Given the description of an element on the screen output the (x, y) to click on. 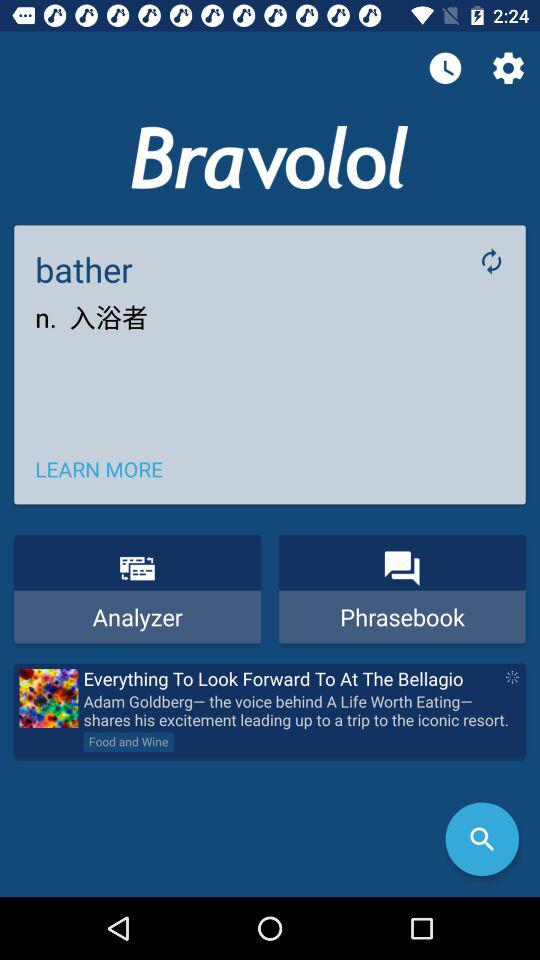
click on icon above analyzer (136, 569)
move to the icon above phrasebook (401, 569)
click on the analyzer left next to phrasebook (137, 588)
click on the button next to analyzer (401, 588)
